Given the description of an element on the screen output the (x, y) to click on. 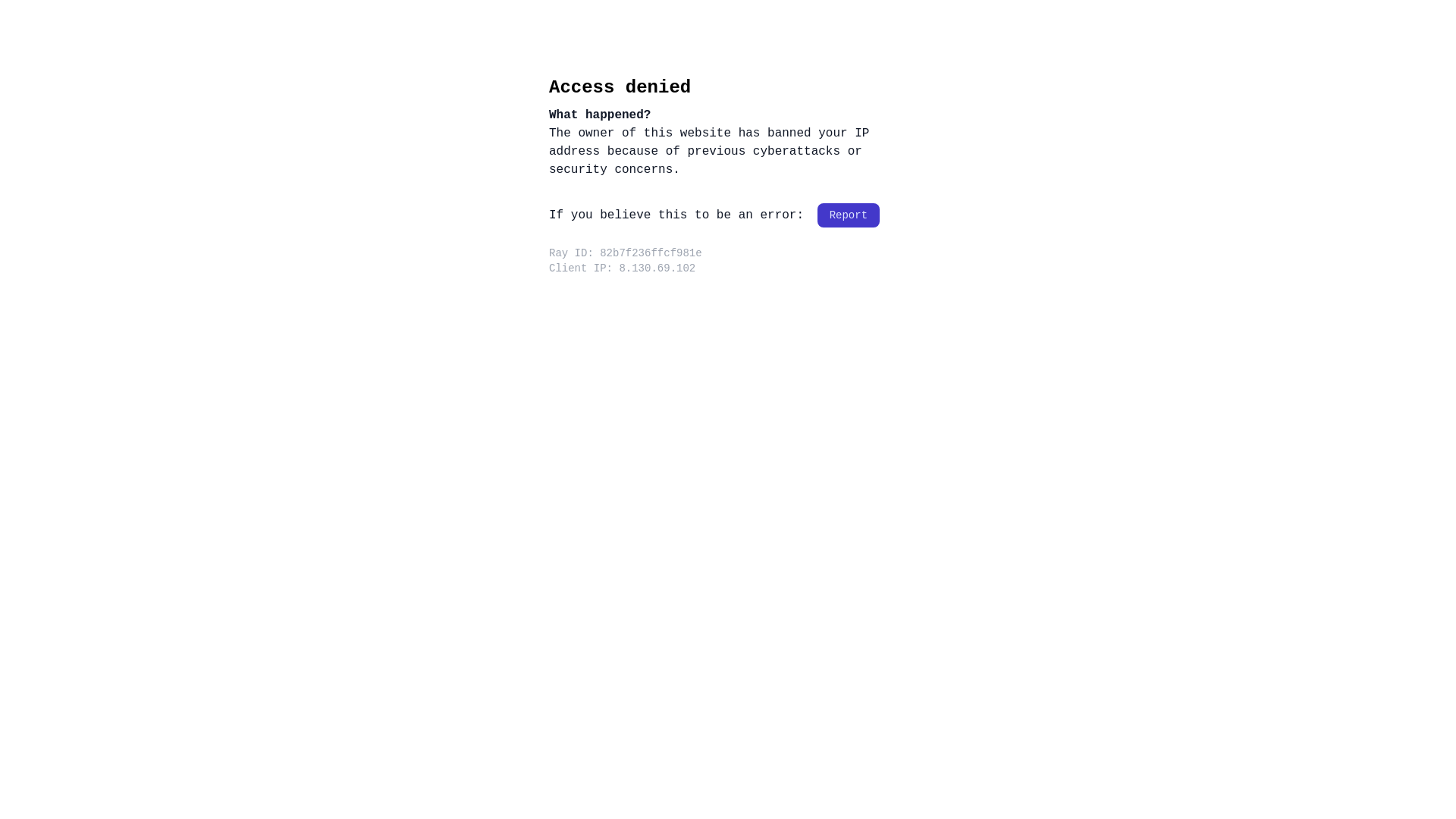
Report Element type: text (848, 215)
